Given the description of an element on the screen output the (x, y) to click on. 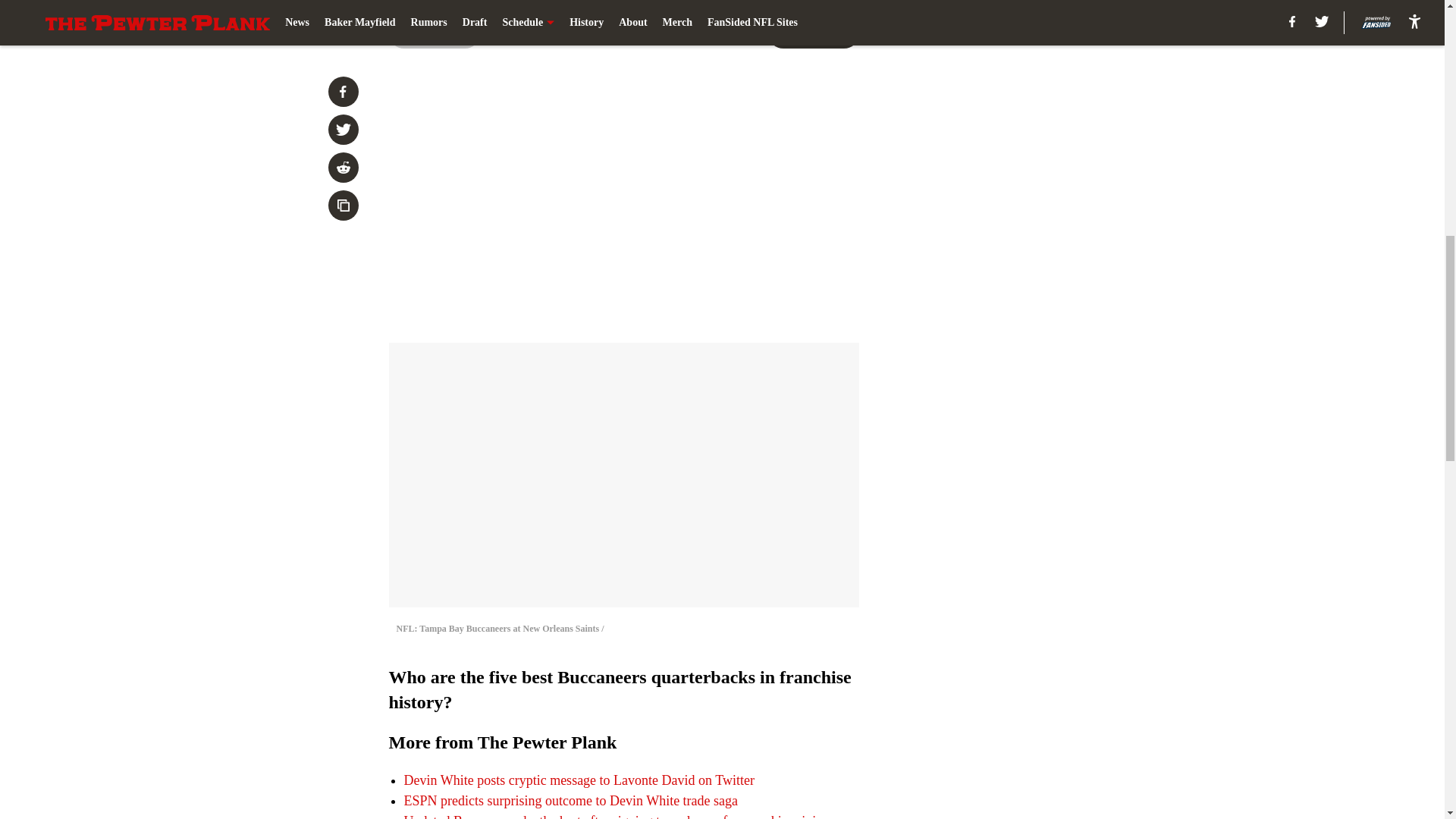
Prev (433, 33)
ESPN predicts surprising outcome to Devin White trade saga (570, 800)
Next (813, 33)
